Given the description of an element on the screen output the (x, y) to click on. 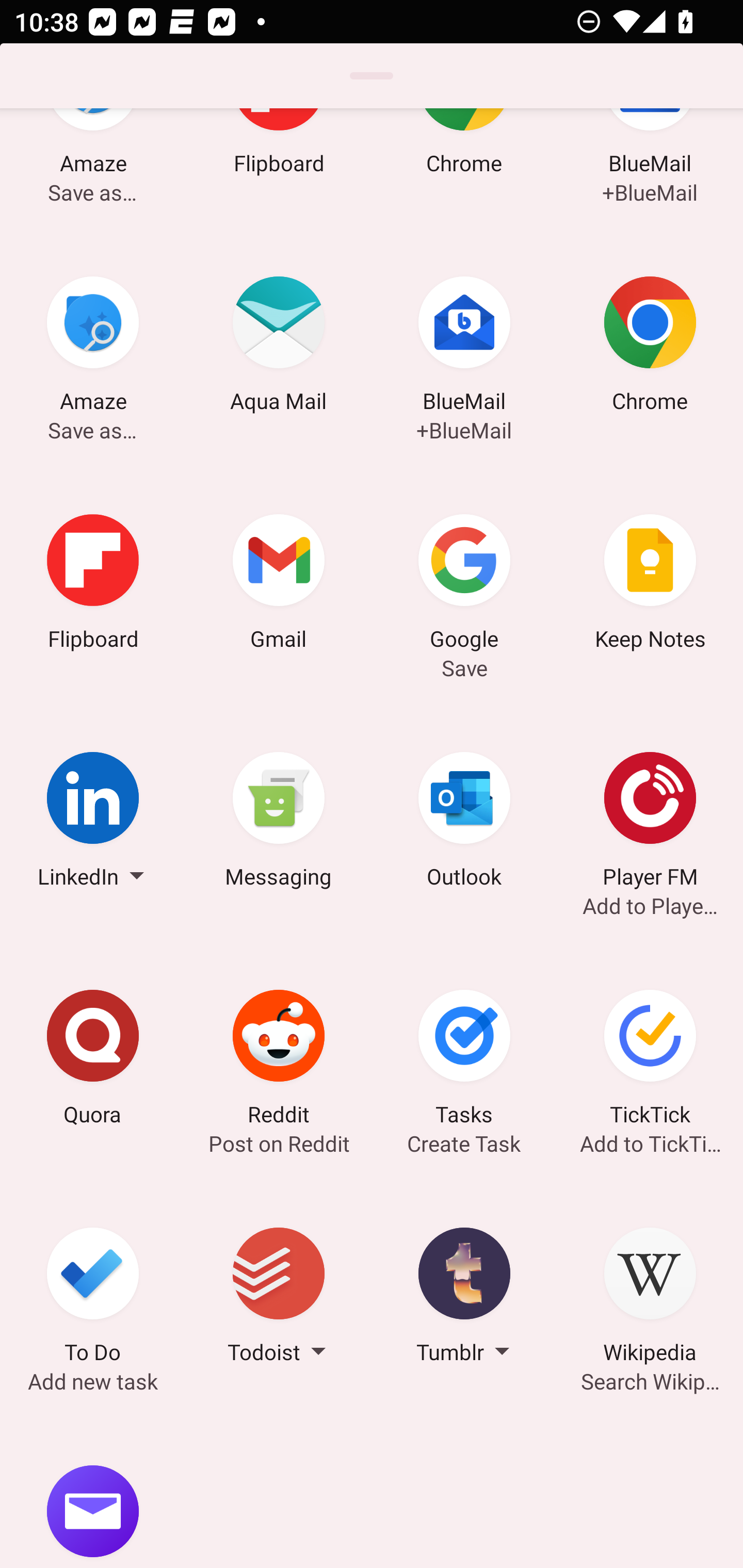
Amaze Save as… (92, 168)
Flipboard (278, 168)
Chrome (464, 168)
BlueMail +BlueMail (650, 168)
Amaze Save as… (92, 346)
Aqua Mail (278, 346)
BlueMail +BlueMail (464, 346)
Chrome (650, 346)
Flipboard (92, 584)
Gmail (278, 584)
Google Save (464, 584)
Keep Notes (650, 584)
LinkedIn (92, 823)
Messaging (278, 823)
Outlook (464, 823)
Player FM Add to Player FM (650, 823)
Quora (92, 1060)
Reddit Post on Reddit (278, 1060)
Tasks Create Task (464, 1060)
TickTick Add to TickTick (650, 1060)
To Do Add new task (92, 1298)
Todoist (278, 1298)
Tumblr (464, 1298)
Wikipedia Search Wikipedia (650, 1298)
